Given the description of an element on the screen output the (x, y) to click on. 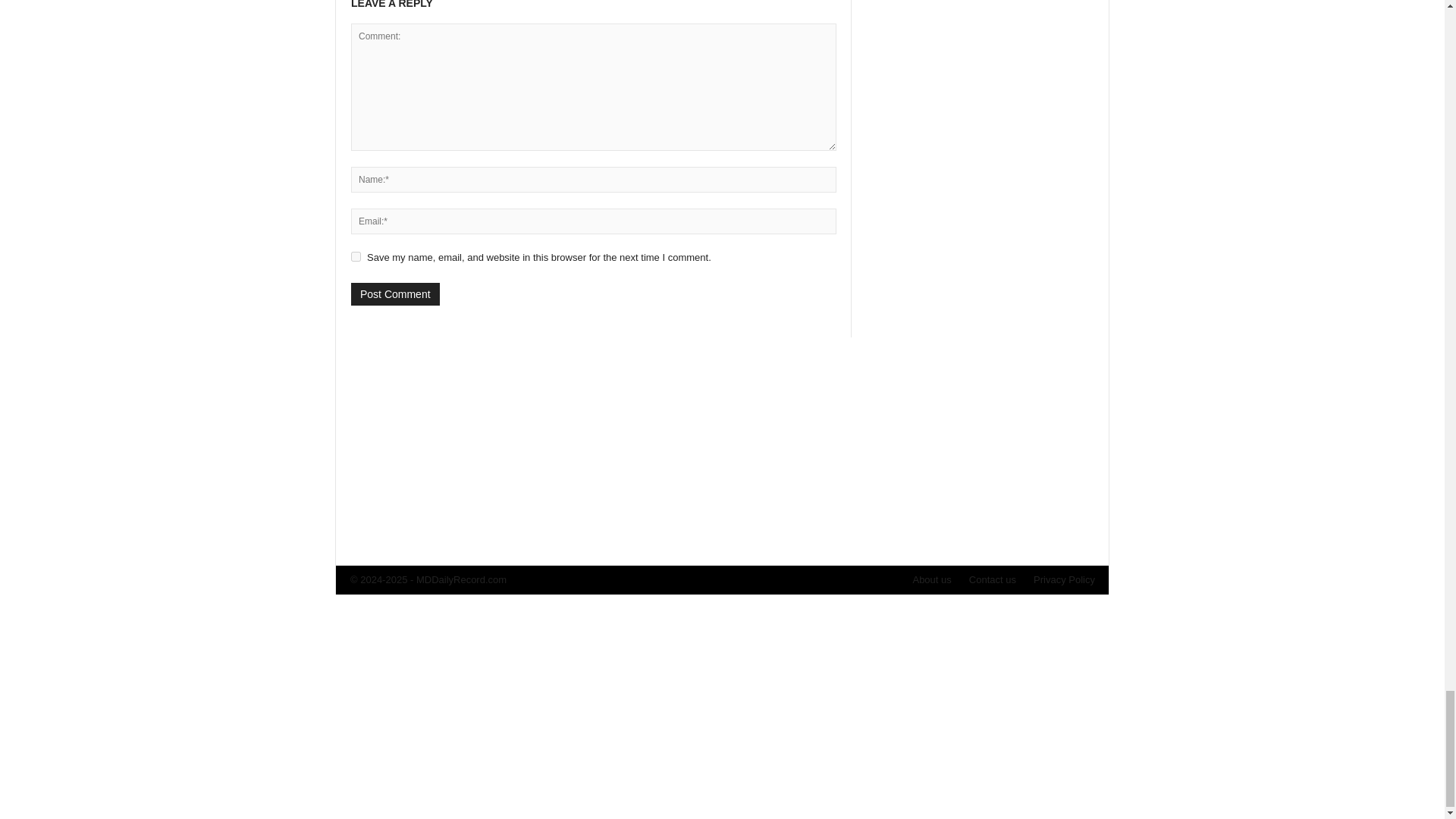
Post Comment (394, 293)
yes (355, 256)
